Given the description of an element on the screen output the (x, y) to click on. 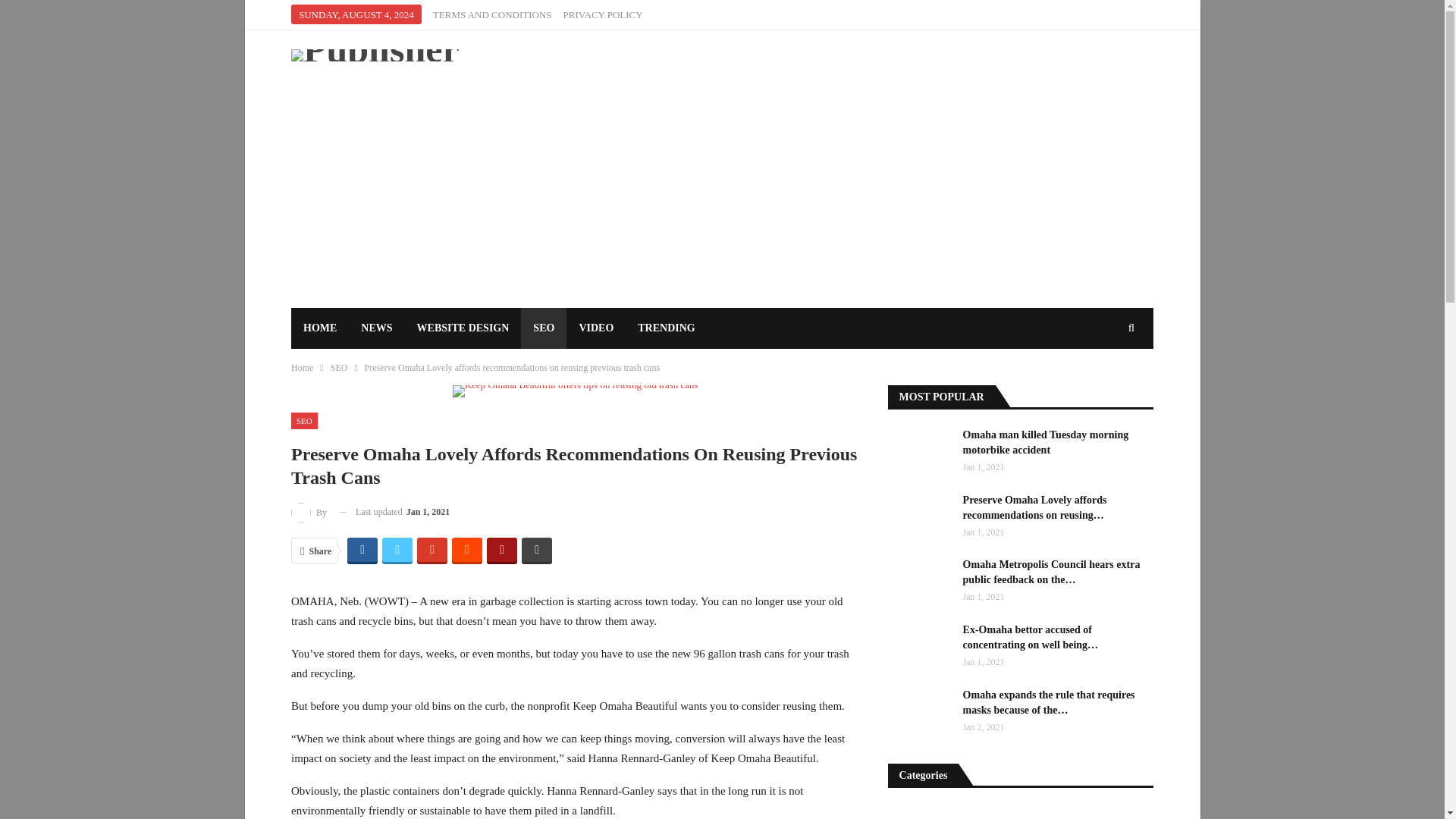
By (310, 512)
WEBSITE DESIGN (462, 327)
TERMS AND CONDITIONS (491, 14)
Home (302, 367)
SEO (304, 420)
PRIVACY POLICY (603, 14)
HOME (320, 327)
SEO (338, 367)
VIDEO (596, 327)
TRENDING (666, 327)
NEWS (376, 327)
SEO (543, 327)
Browse Author Articles (310, 512)
